Given the description of an element on the screen output the (x, y) to click on. 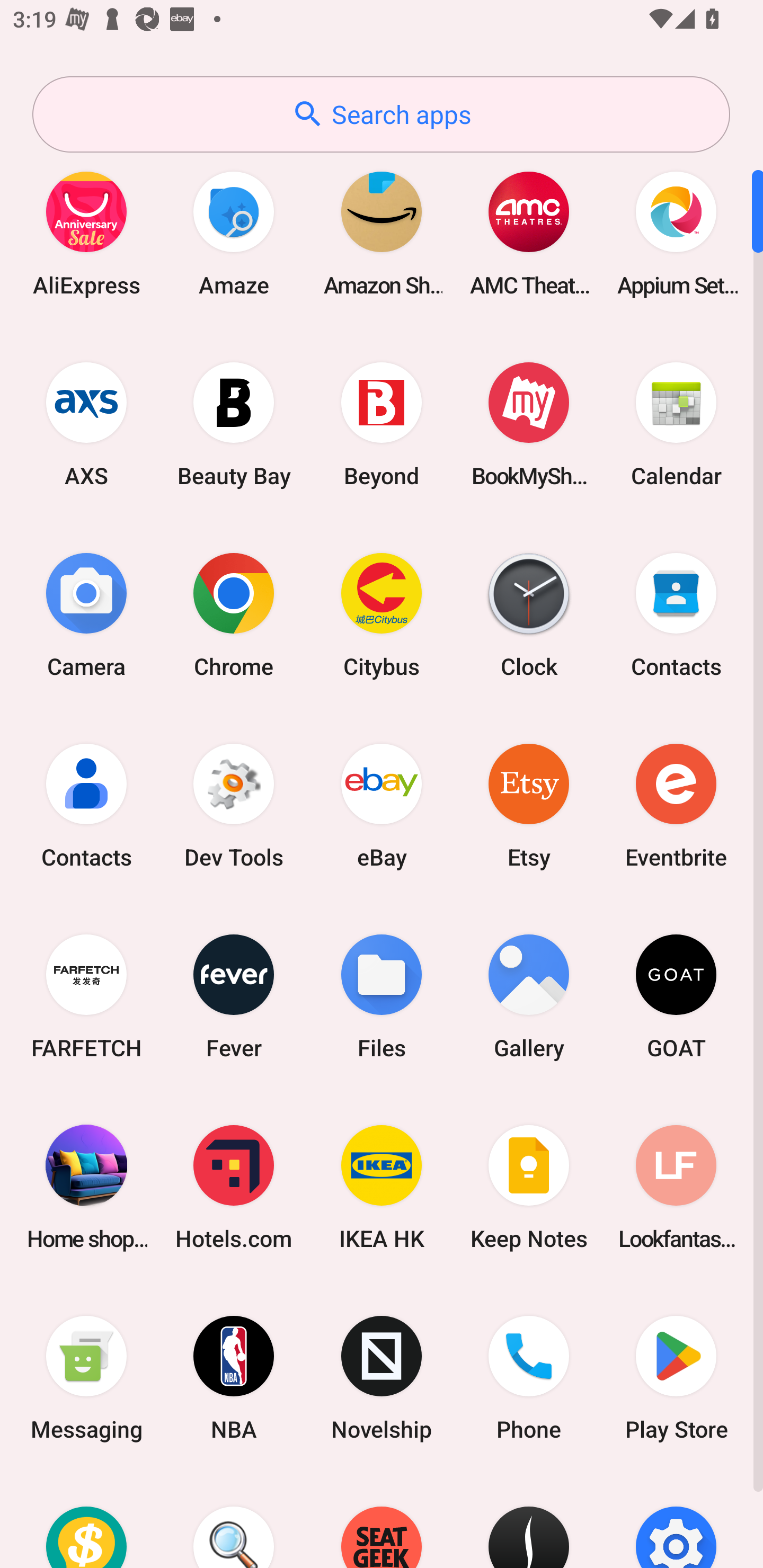
  Search apps (381, 114)
AliExpress (86, 233)
Amaze (233, 233)
Amazon Shopping (381, 233)
AMC Theatres (528, 233)
Appium Settings (676, 233)
AXS (86, 424)
Beauty Bay (233, 424)
Beyond (381, 424)
BookMyShow (528, 424)
Calendar (676, 424)
Camera (86, 614)
Chrome (233, 614)
Citybus (381, 614)
Clock (528, 614)
Contacts (676, 614)
Contacts (86, 805)
Dev Tools (233, 805)
eBay (381, 805)
Etsy (528, 805)
Eventbrite (676, 805)
FARFETCH (86, 996)
Fever (233, 996)
Files (381, 996)
Gallery (528, 996)
GOAT (676, 996)
Home shopping (86, 1186)
Hotels.com (233, 1186)
IKEA HK (381, 1186)
Keep Notes (528, 1186)
Lookfantastic (676, 1186)
Messaging (86, 1377)
NBA (233, 1377)
Novelship (381, 1377)
Phone (528, 1377)
Play Store (676, 1377)
